Given the description of an element on the screen output the (x, y) to click on. 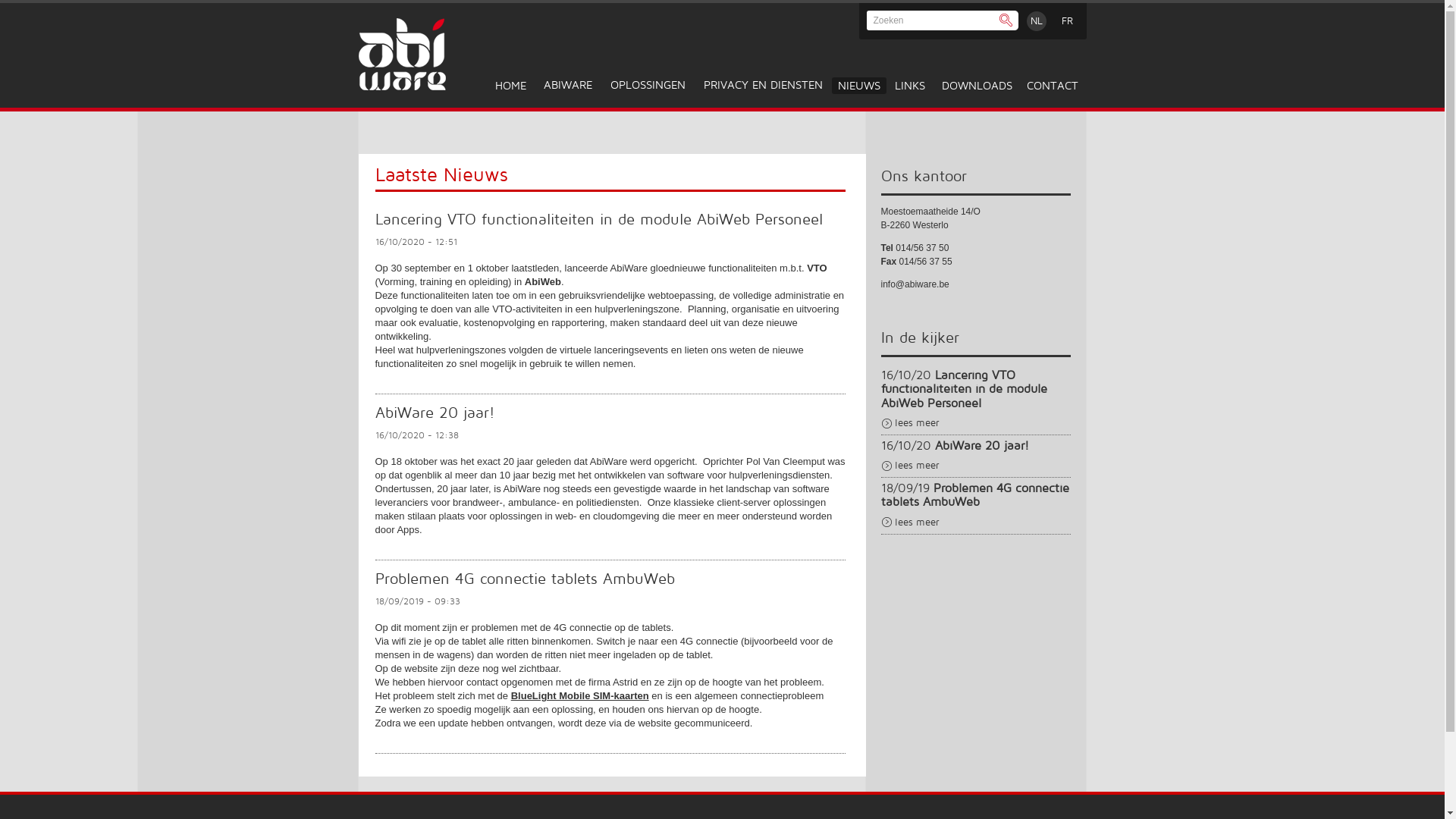
Problemen 4G connectie tablets AmbuWeb Element type: text (524, 580)
lees meer Element type: text (916, 465)
NL Element type: text (1035, 21)
info@abiware.be Element type: text (915, 284)
AbiWare 20 jaar! Element type: text (981, 445)
AbiWare 20 jaar! Element type: text (433, 414)
lees meer Element type: text (916, 422)
CONTACT Element type: text (1052, 85)
LINKS Element type: text (909, 85)
Geef de woorden op waarnaar u wilt zoeken. Element type: hover (928, 20)
DOWNLOADS Element type: text (976, 85)
lees meer Element type: text (916, 522)
PRIVACY EN DIENSTEN Element type: text (762, 84)
HOME Element type: text (509, 85)
FR Element type: text (1067, 21)
Zoeken Element type: text (1005, 21)
NIEUWS Element type: text (858, 85)
OPLOSSINGEN Element type: text (646, 84)
Home Element type: hover (401, 86)
ABIWARE Element type: text (566, 84)
Problemen 4G connectie tablets AmbuWeb Element type: text (975, 494)
